Given the description of an element on the screen output the (x, y) to click on. 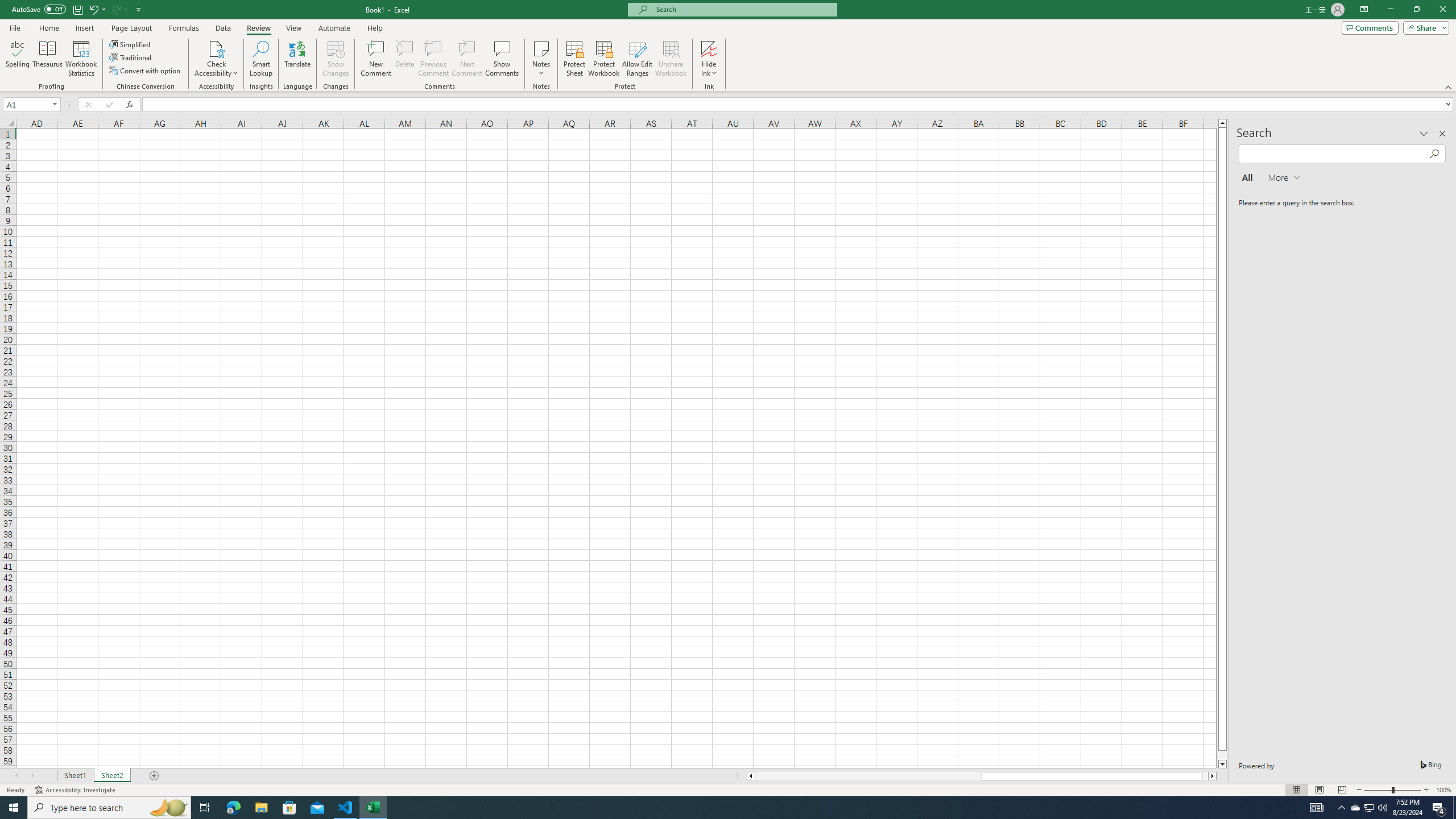
Show Changes (335, 58)
Smart Lookup (260, 58)
